Given the description of an element on the screen output the (x, y) to click on. 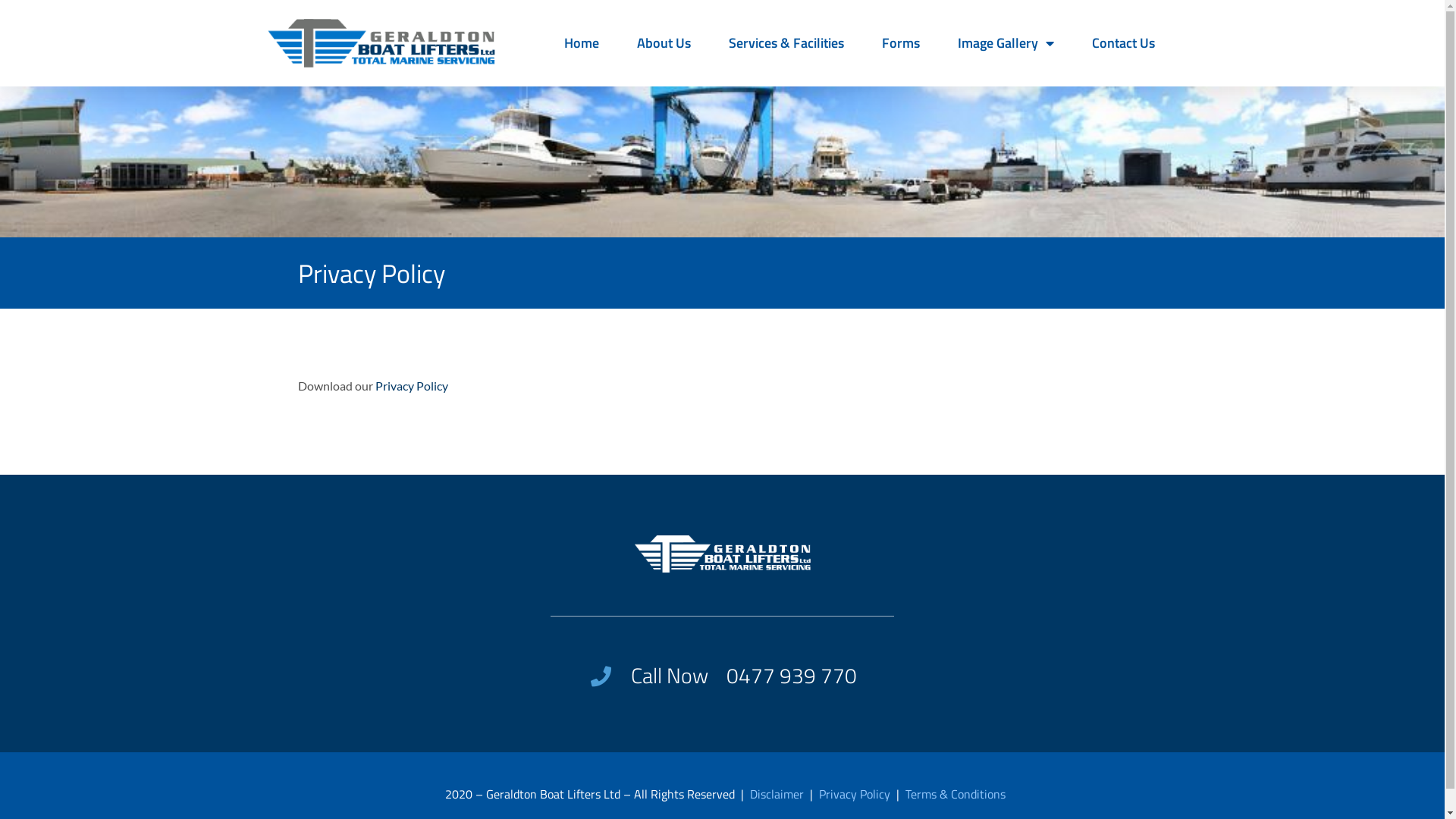
0477 939 770 Element type: text (791, 675)
Call Now Element type: text (647, 675)
Privacy Policy Element type: text (854, 793)
Disclaimer  Element type: text (777, 793)
About Us Element type: text (663, 42)
Image Gallery Element type: text (1005, 42)
Forms Element type: text (900, 42)
Services & Facilities Element type: text (785, 42)
Contact Us Element type: text (1123, 42)
Terms & Conditions Element type: text (955, 793)
Privacy Policy Element type: text (410, 385)
Home Element type: text (581, 42)
